Given the description of an element on the screen output the (x, y) to click on. 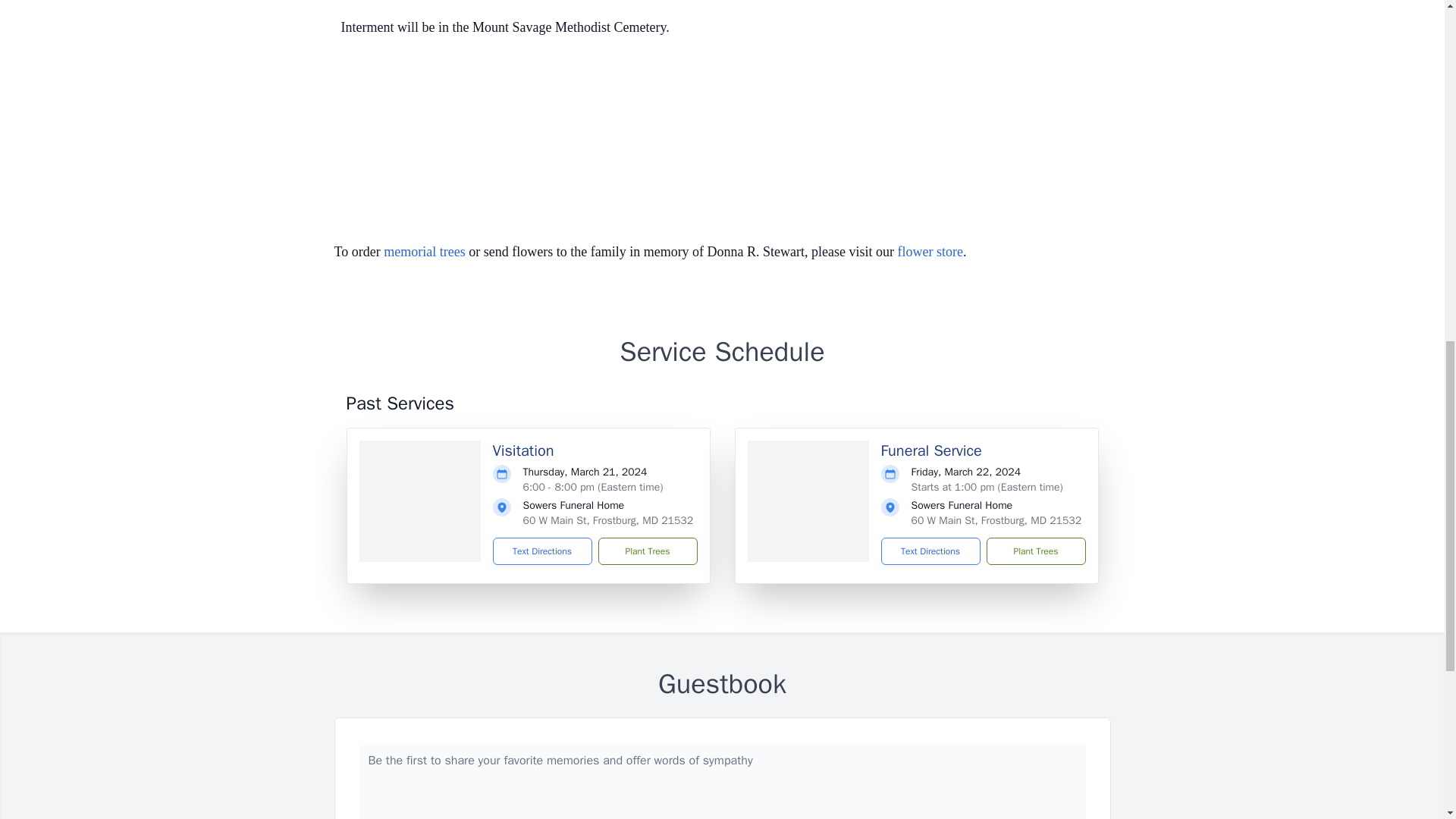
memorial trees (424, 251)
Plant Trees (646, 551)
Plant Trees (1034, 551)
Text Directions (929, 551)
60 W Main St, Frostburg, MD 21532 (608, 520)
60 W Main St, Frostburg, MD 21532 (996, 520)
Text Directions (542, 551)
flower store (930, 251)
